Given the description of an element on the screen output the (x, y) to click on. 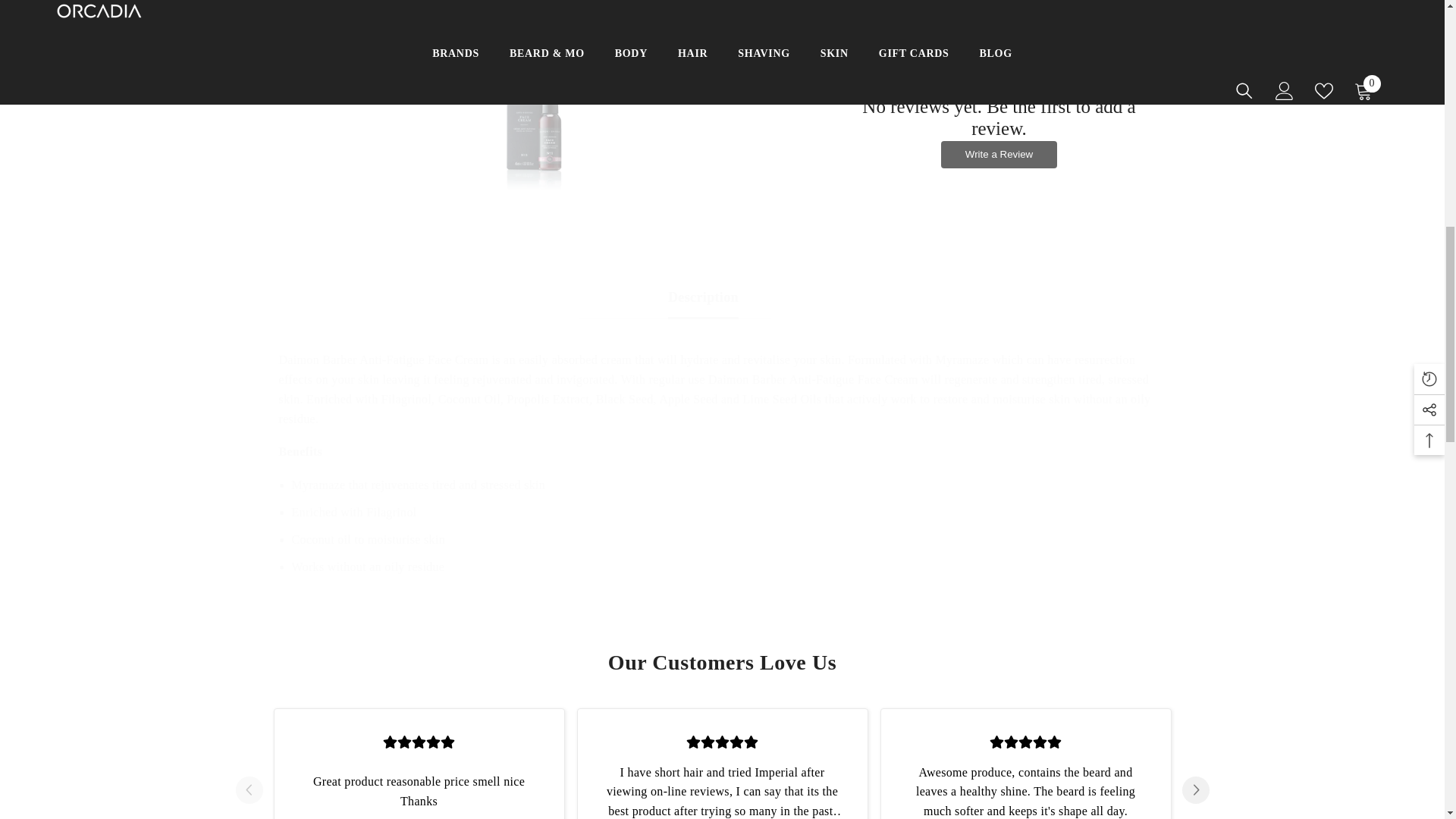
Sold Out (555, 45)
